Given the description of an element on the screen output the (x, y) to click on. 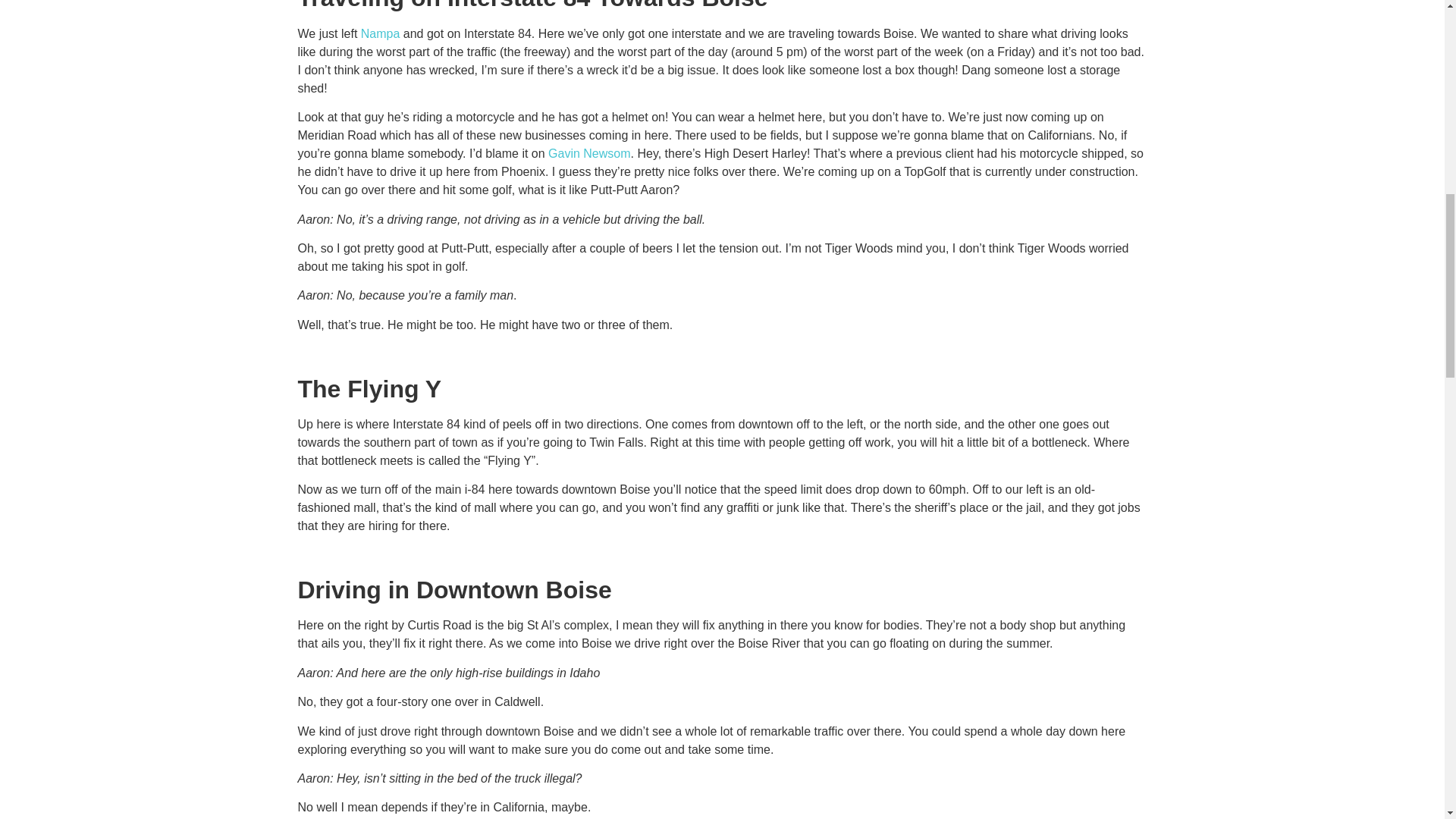
Gavin Newsom (589, 153)
Nampa (380, 33)
